Given the description of an element on the screen output the (x, y) to click on. 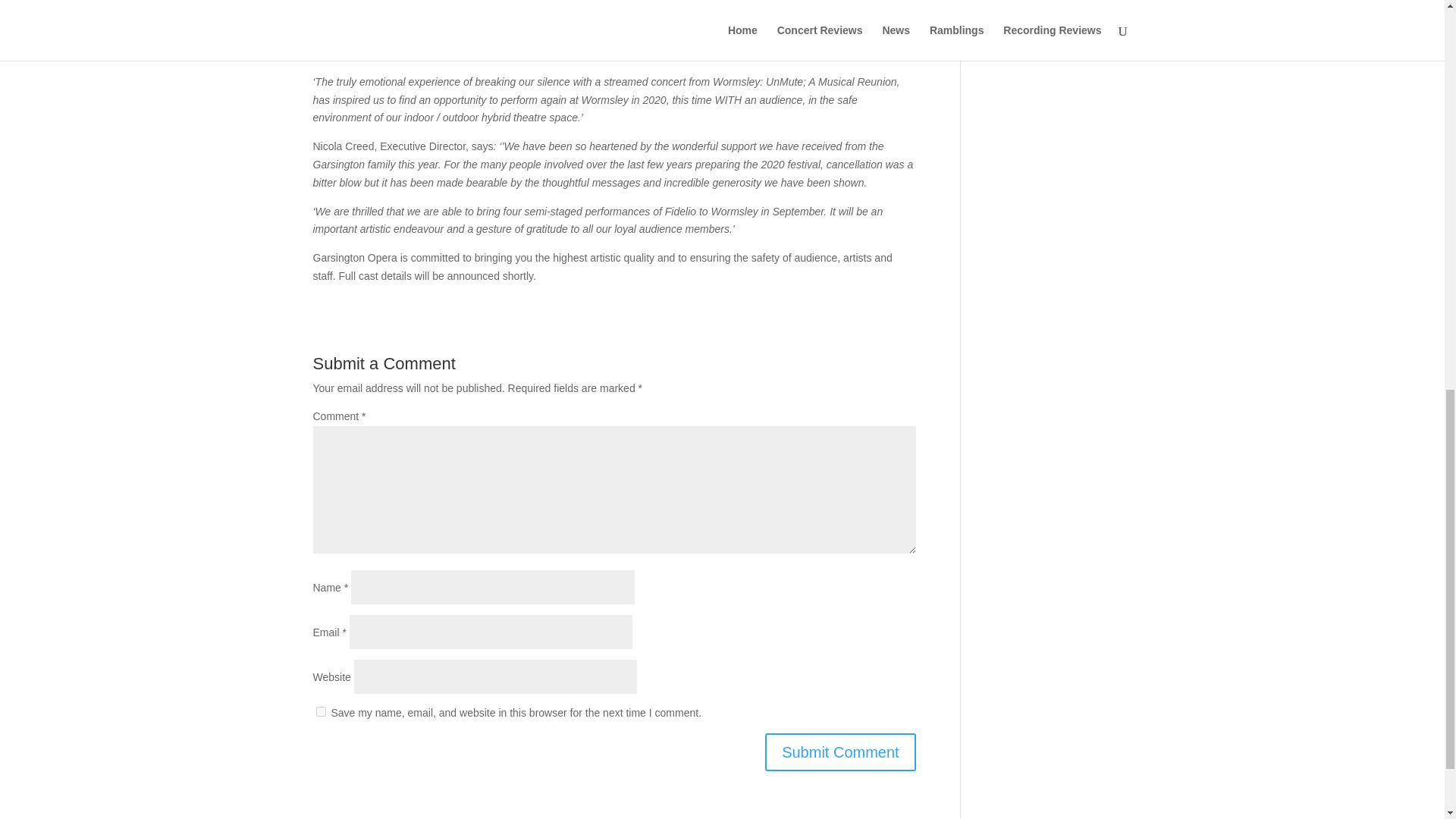
Submit Comment (840, 752)
yes (319, 711)
Submit Comment (840, 752)
